Given the description of an element on the screen output the (x, y) to click on. 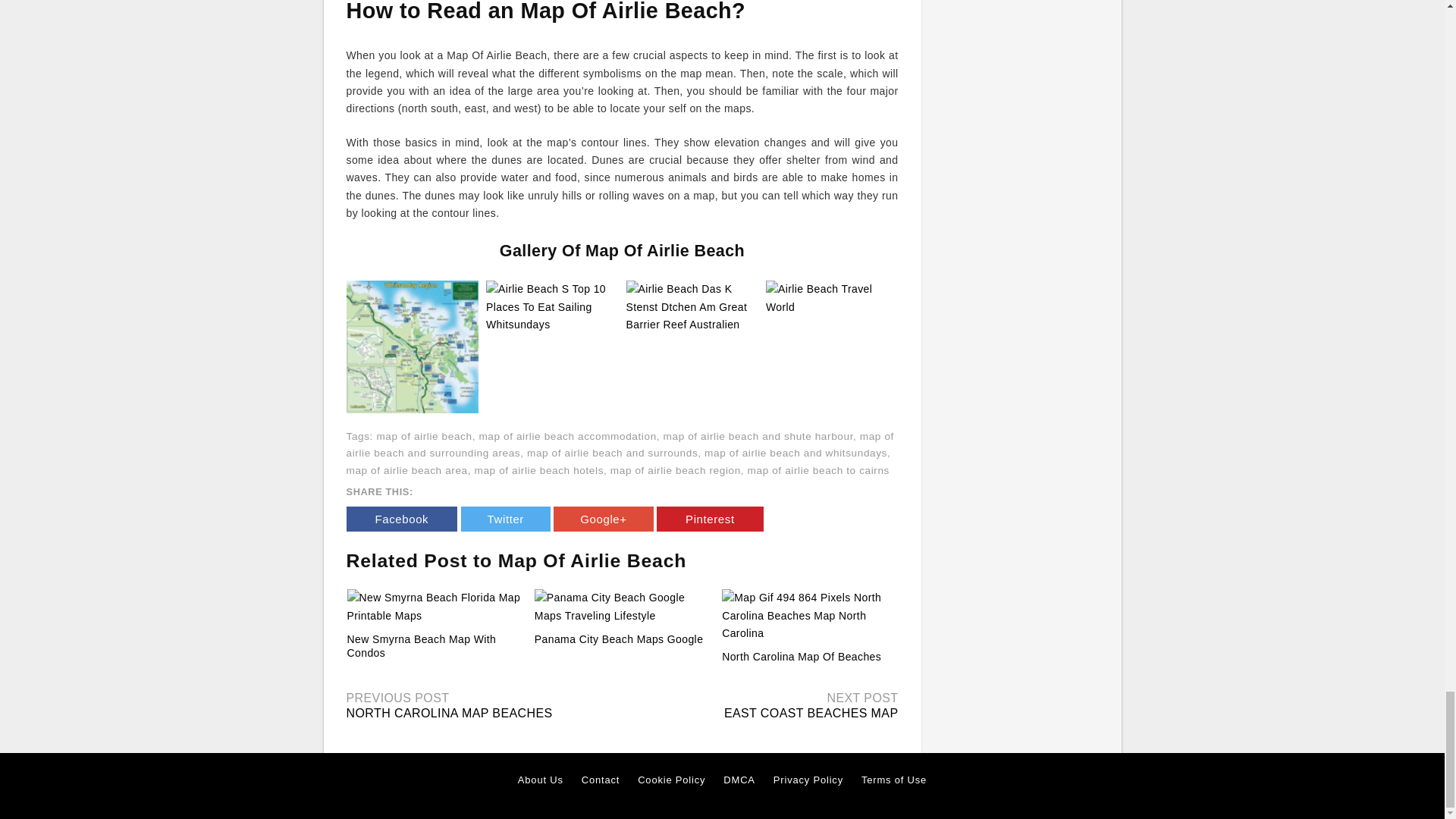
Airlie Beach S Top 10 Places To Eat Sailing Whitsundays (552, 306)
map of airlie beach (423, 436)
map of airlie beach accommodation (567, 436)
map of airlie beach area (406, 470)
map of airlie beach and shute harbour (758, 436)
map of airlie beach region (675, 470)
Airlie Beach Travel World (831, 297)
map of airlie beach hotels (539, 470)
Facebook (401, 518)
